Given the description of an element on the screen output the (x, y) to click on. 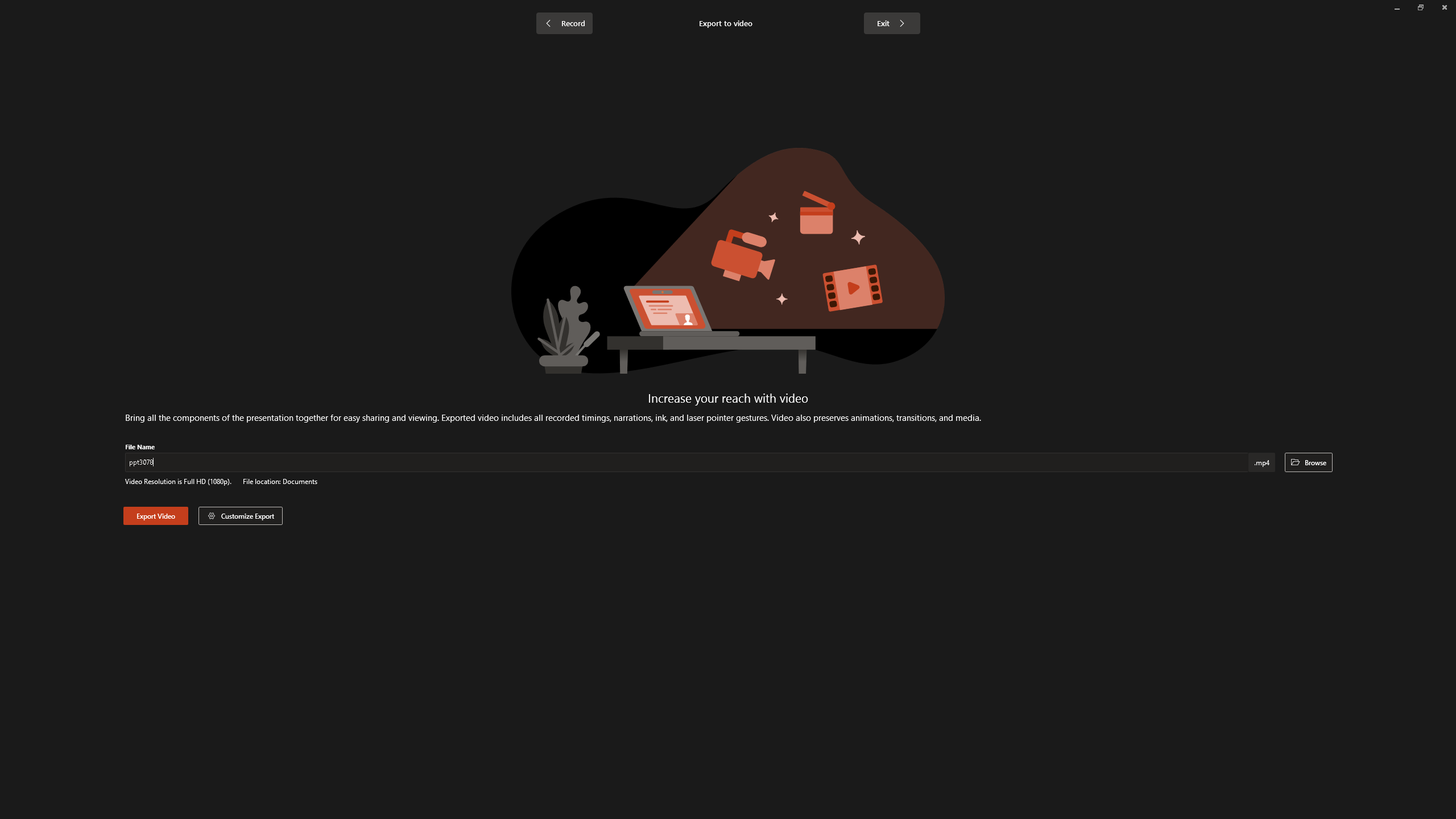
Save as Show (306, 58)
Filename (687, 464)
Learn More (368, 58)
